Given the description of an element on the screen output the (x, y) to click on. 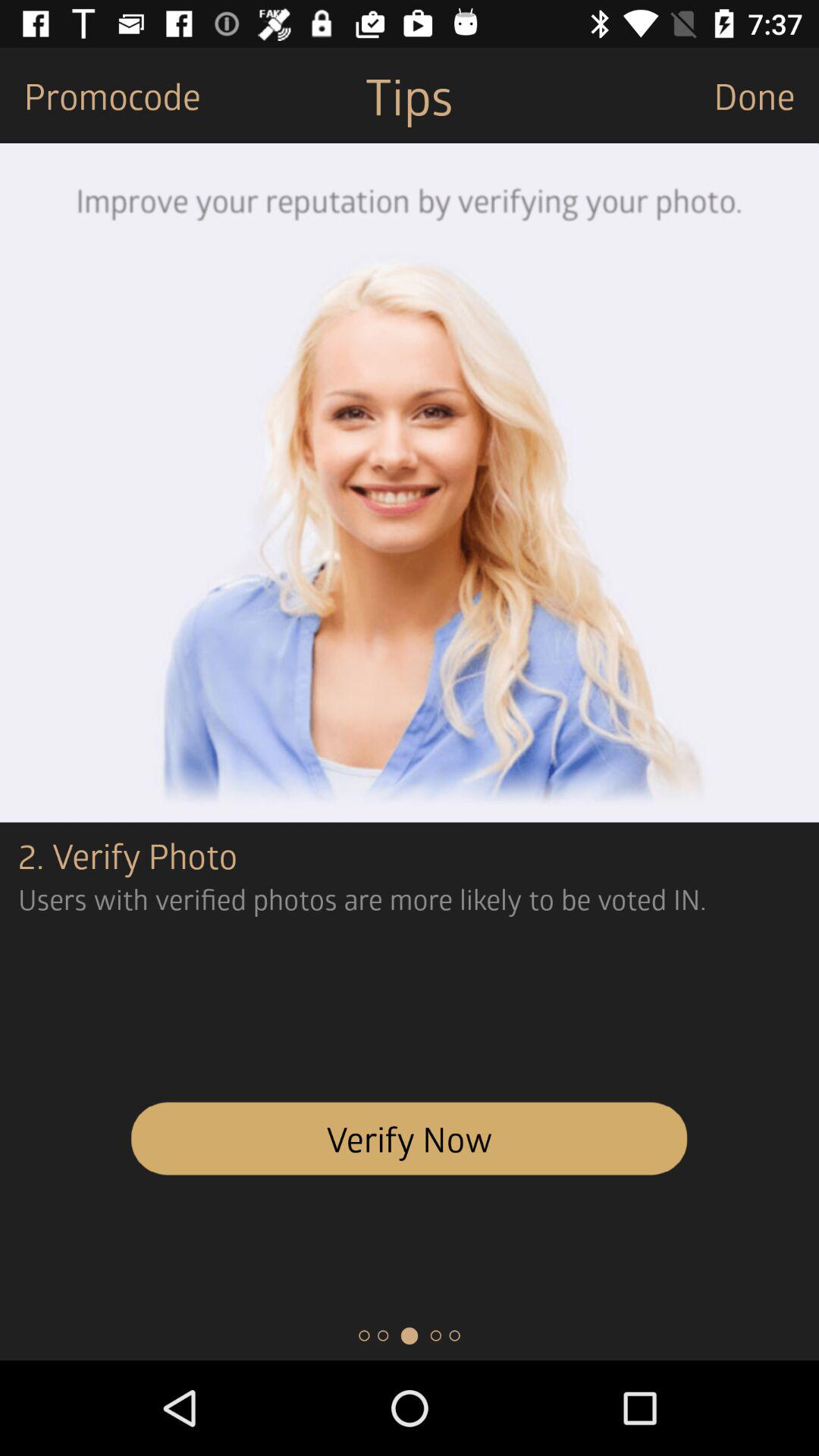
launch verify now item (409, 1138)
